Given the description of an element on the screen output the (x, y) to click on. 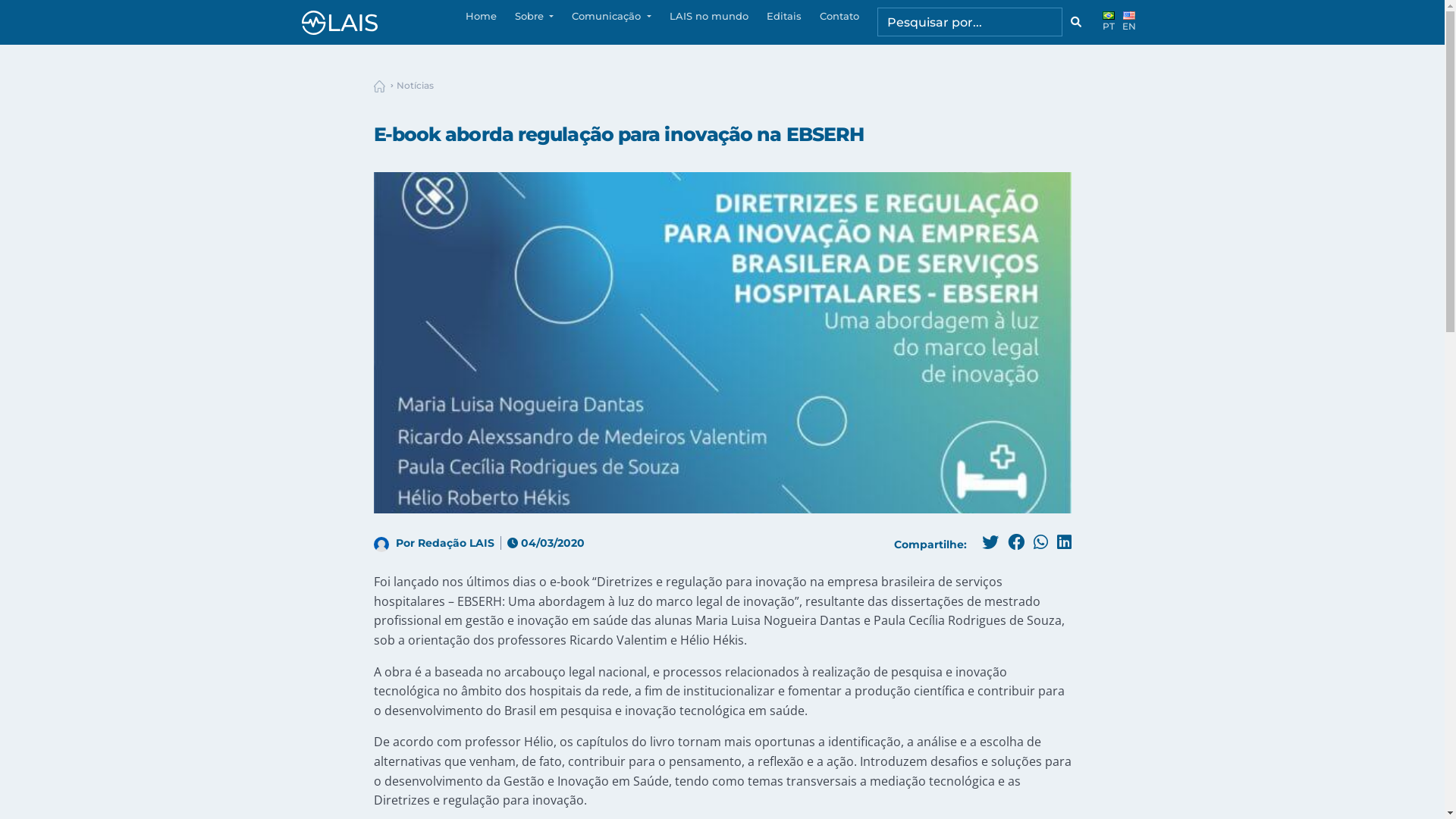
Contato Element type: text (838, 17)
Sobre Element type: text (533, 17)
Editais Element type: text (782, 17)
EN Element type: text (1128, 22)
PT Element type: text (1108, 22)
Home Element type: text (480, 17)
Pesquisar Element type: text (1075, 21)
LAIS no mundo Element type: text (707, 17)
